Given the description of an element on the screen output the (x, y) to click on. 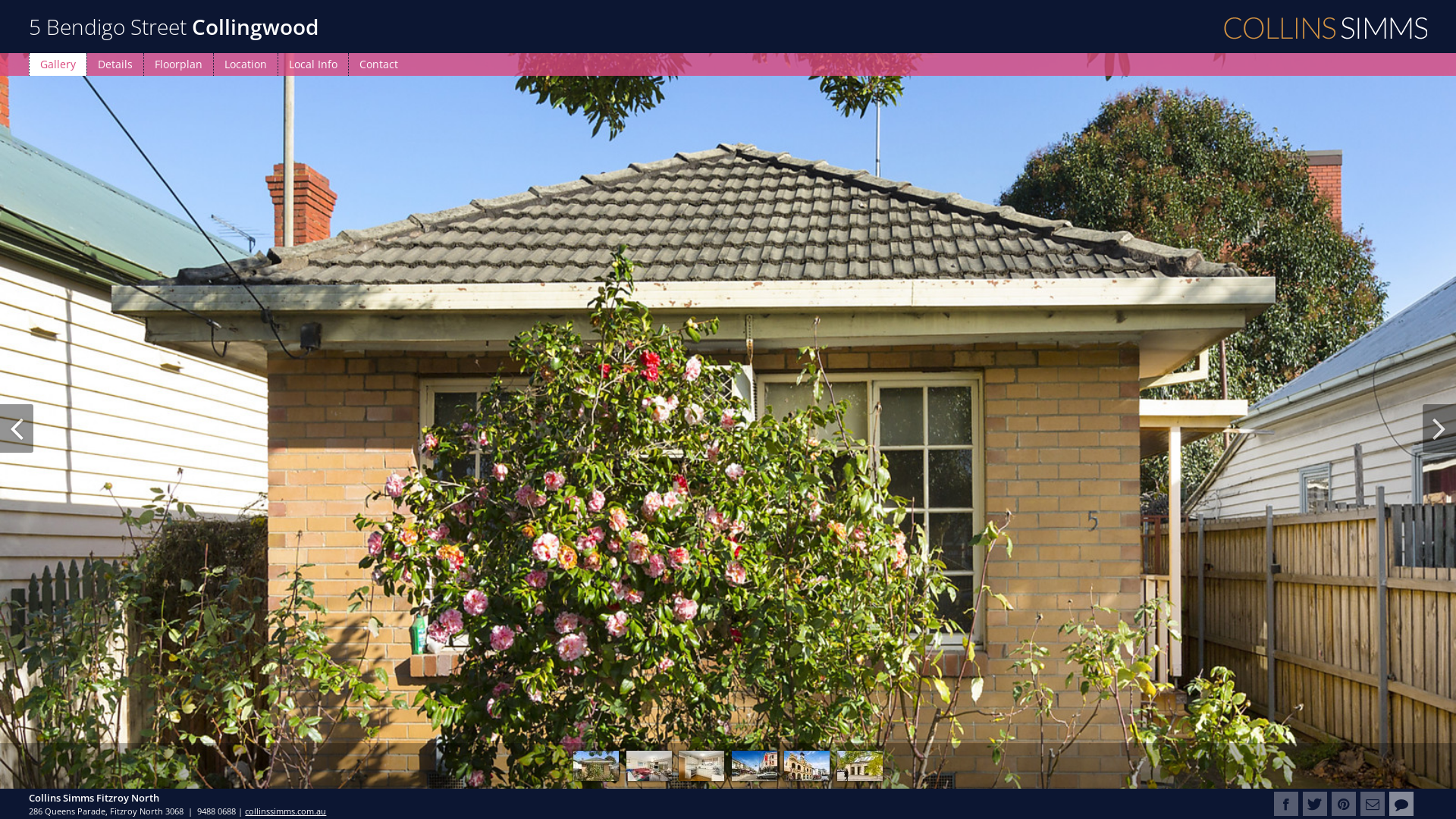
Tweet this property Element type: hover (1314, 803)
Gallery Element type: text (57, 64)
Pin it on Pinterest Element type: hover (1343, 803)
collinssimms.com.au Element type: text (285, 810)
Location Element type: text (245, 64)
Contact Collins Simms Fitzroy North Element type: hover (1401, 803)
Contact Element type: text (378, 64)
Floorplan Element type: text (178, 64)
Share this property on Facebook Element type: hover (1286, 803)
Details Element type: text (114, 64)
Local Info Element type: text (312, 64)
E-mail to Friends Element type: hover (1372, 803)
